Given the description of an element on the screen output the (x, y) to click on. 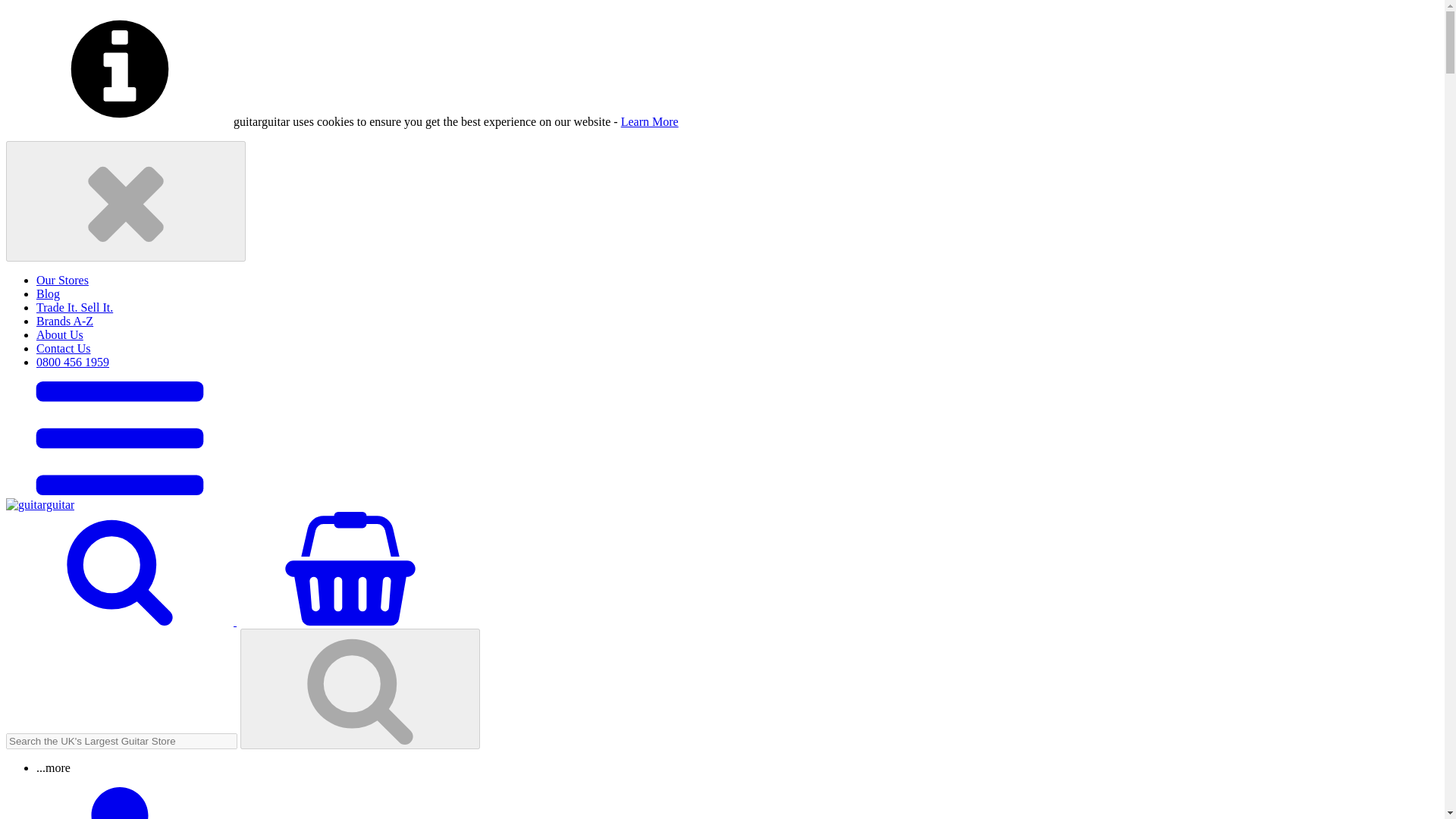
Brands A-Z (64, 320)
0800 456 1959 (72, 361)
Contact Us (63, 348)
Trade It. Sell It. (74, 307)
Cookie Policy (649, 121)
About Us (59, 334)
Search (120, 621)
Menu (118, 490)
Trade It. Sell It. (74, 307)
...more (52, 767)
Cart (349, 621)
Learn More (649, 121)
0800 456 1959 (72, 361)
guitarguitar (39, 504)
Blog (47, 293)
